Given the description of an element on the screen output the (x, y) to click on. 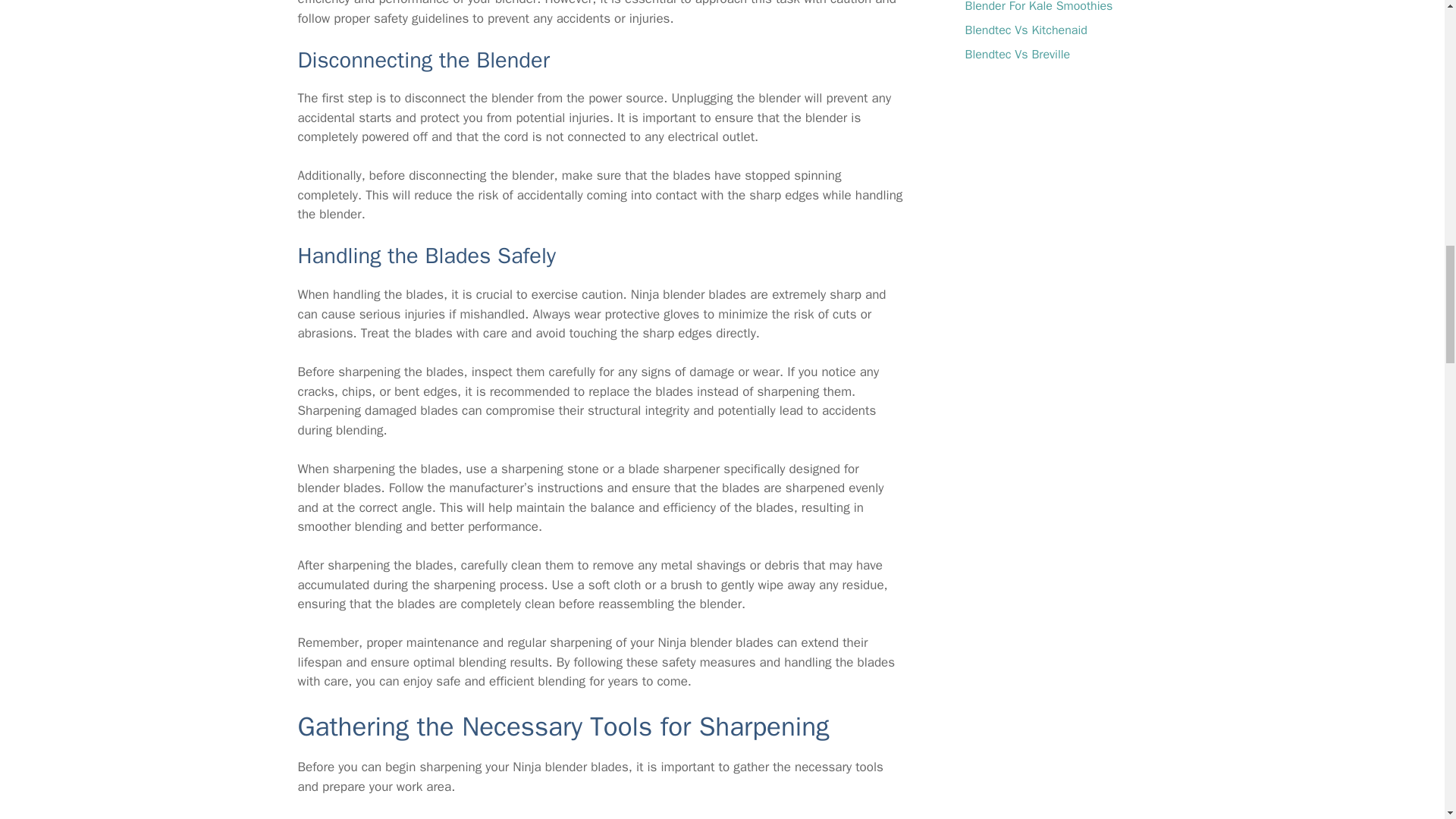
Blender For Kale Smoothies (1037, 6)
Blendtec Vs Kitchenaid (1024, 29)
Blendtec Vs Breville (1016, 54)
